Given the description of an element on the screen output the (x, y) to click on. 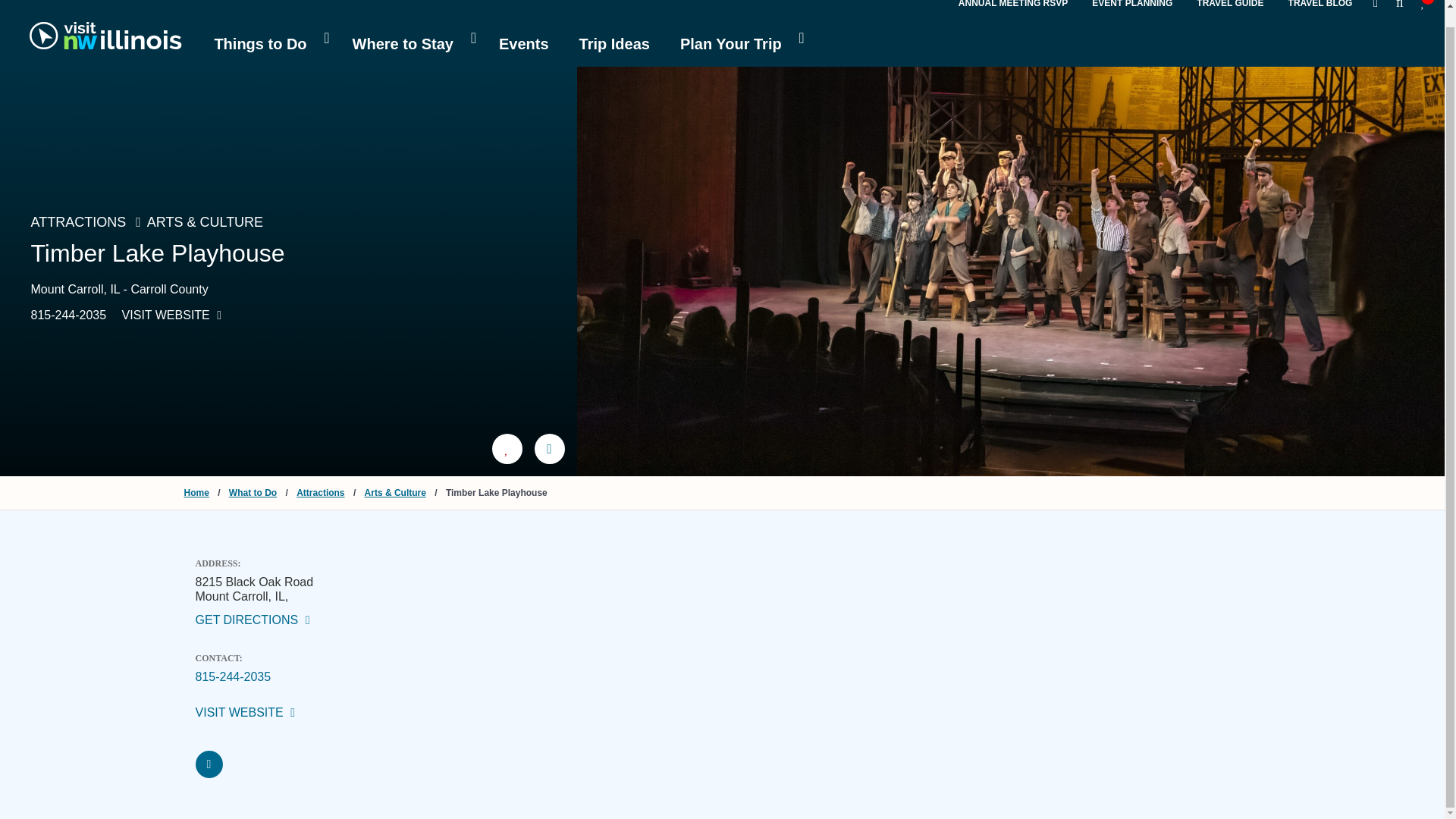
Things to Do (267, 43)
Get Directions for Timber Lake Playhouse (294, 619)
Plan Your Trip (738, 43)
Visit Facebook (208, 764)
Phone (232, 676)
TRAVEL BLOG (1320, 5)
TRAVEL GUIDE (1229, 5)
EVENT PLANNING (1132, 5)
Where to Stay (410, 43)
